Given the description of an element on the screen output the (x, y) to click on. 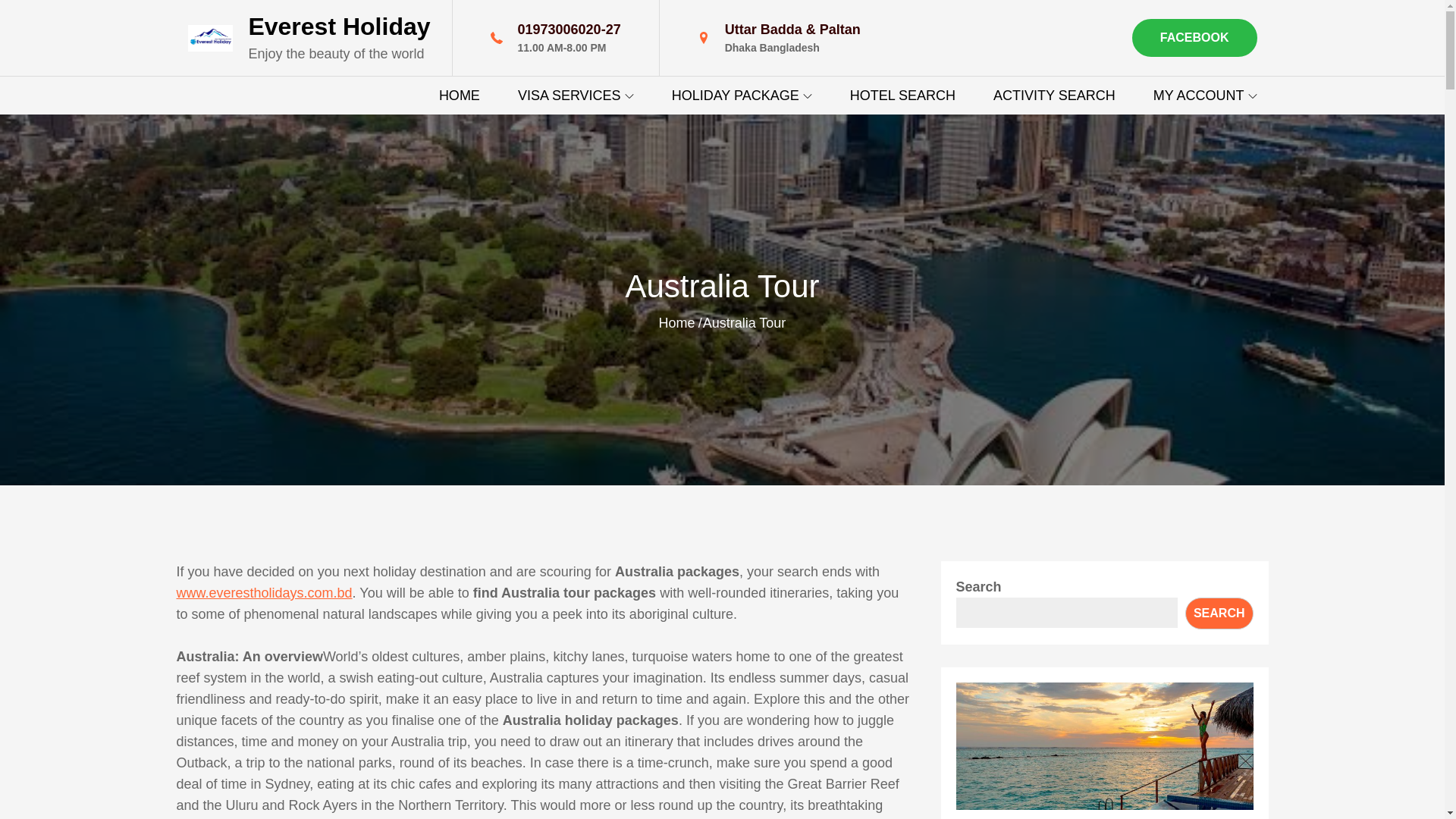
01973006020-27 (569, 29)
HOME (459, 95)
VISA SERVICES (575, 95)
FACEBOOK (1194, 37)
Everest Holiday (338, 26)
